Given the description of an element on the screen output the (x, y) to click on. 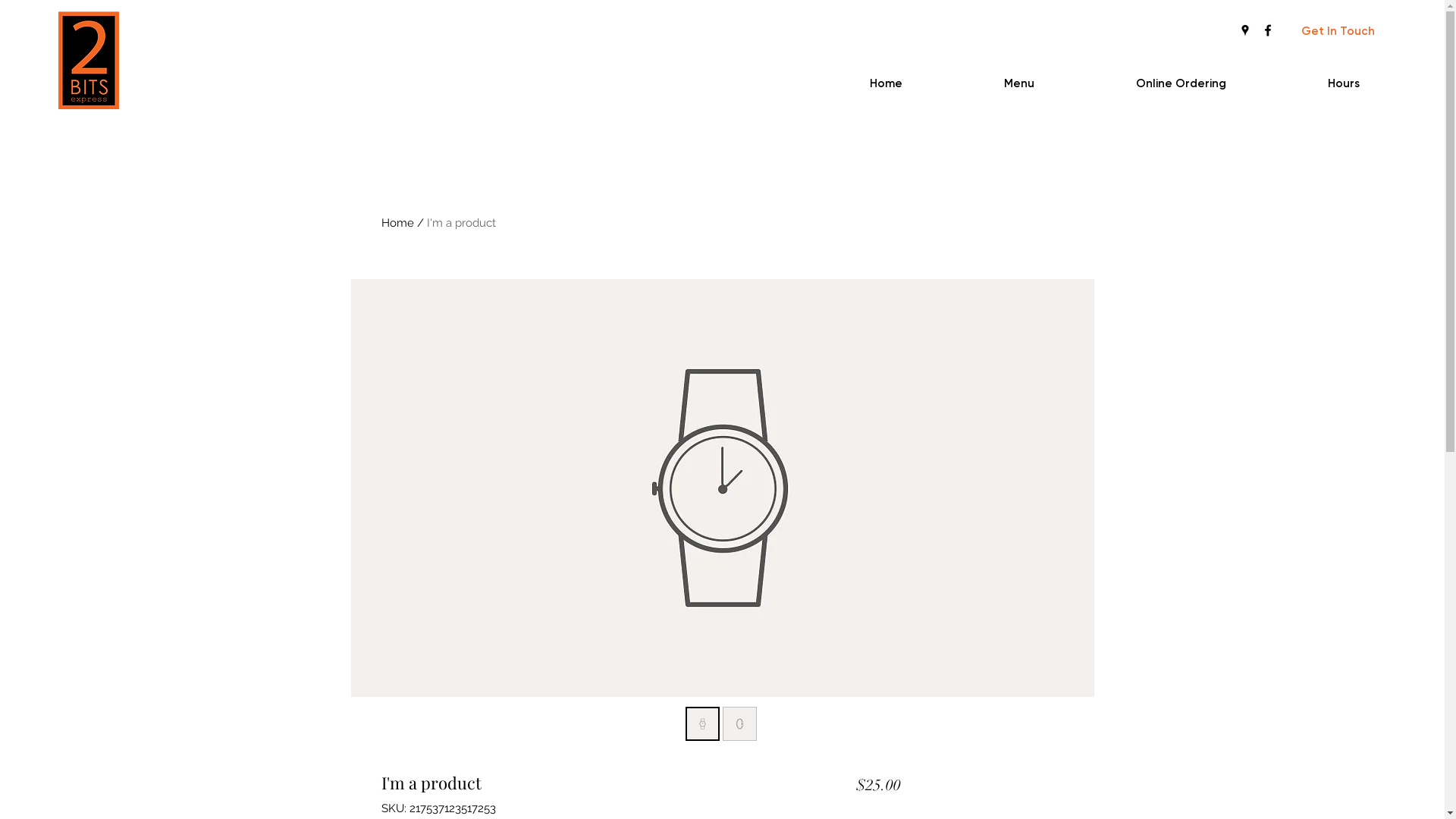
I'm a product Element type: text (460, 222)
Online Ordering Element type: text (1137, 83)
Menu Element type: text (975, 83)
Home Element type: text (842, 83)
Home Element type: text (396, 222)
Get In Touch Element type: text (1337, 30)
Hours Element type: text (1300, 83)
